Given the description of an element on the screen output the (x, y) to click on. 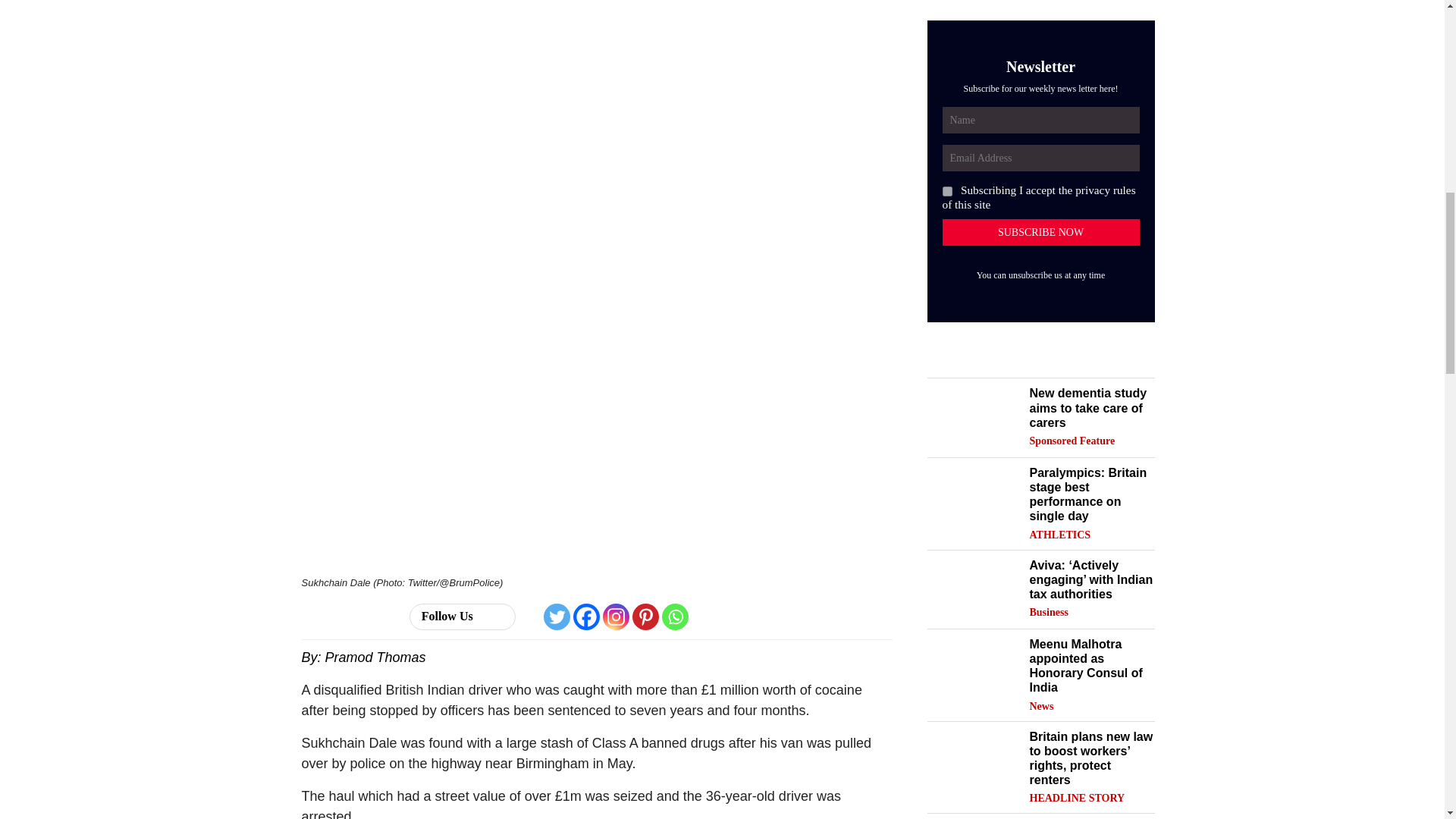
Subscribe Now (1040, 232)
Whatsapp (675, 616)
Instagram (615, 616)
Facebook (586, 616)
Twitter (556, 616)
on (947, 191)
Pinterest (645, 616)
